Given the description of an element on the screen output the (x, y) to click on. 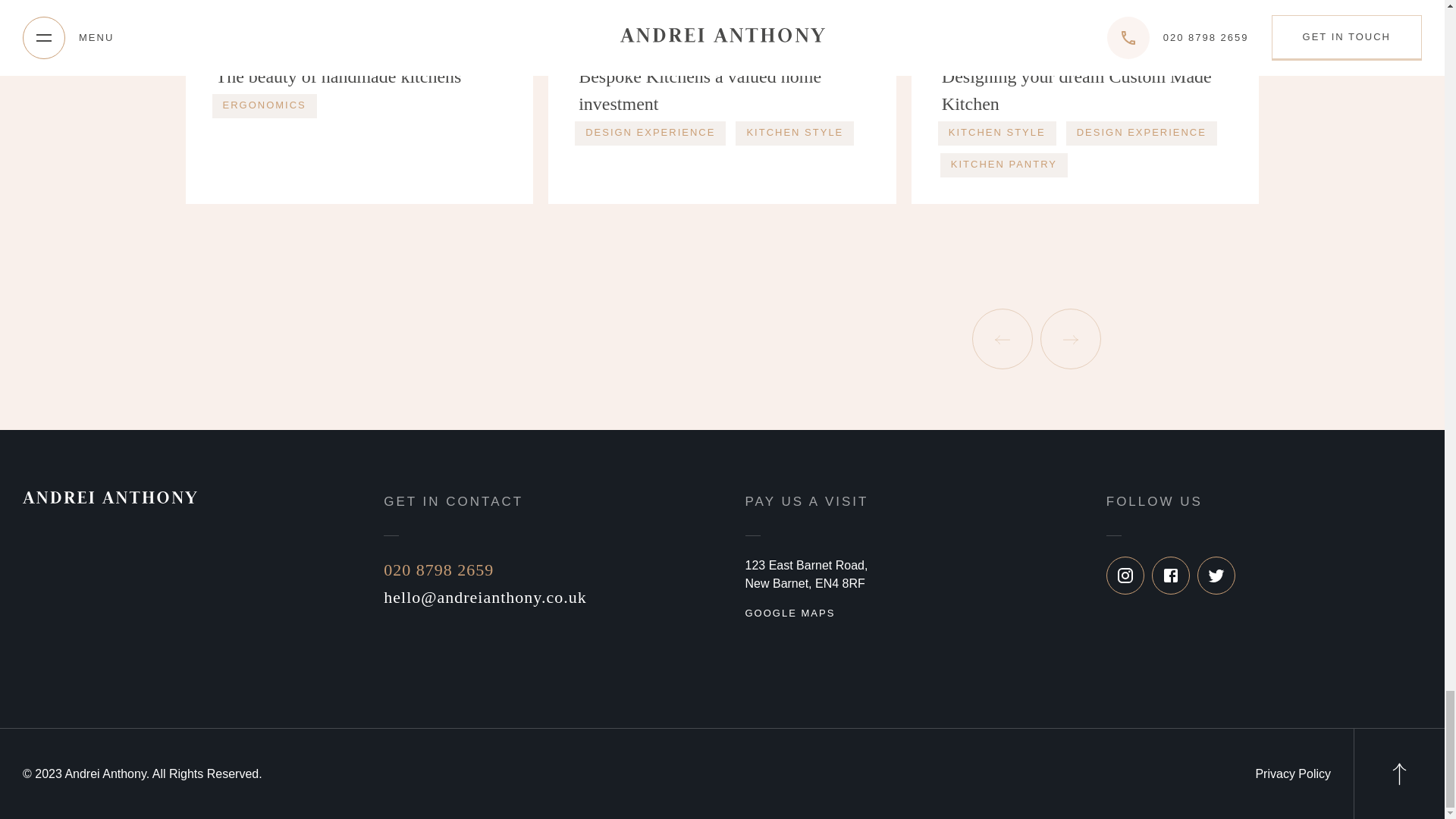
The beauty of handmade kitchens (358, 76)
CRAFTSMANSHIP (266, 47)
Bespoke Kitchens a valued home investment (722, 90)
Designing your dream Custom Made Kitchen (1085, 90)
KITCHEN STYLE (997, 133)
BESPOKE (970, 47)
DESIGN EXPERIENCE (1141, 133)
KITCHEN STYLE (794, 133)
ERGONOMICS (264, 105)
DESIGN EXPERIENCE (650, 133)
DESIGN (602, 47)
